Given the description of an element on the screen output the (x, y) to click on. 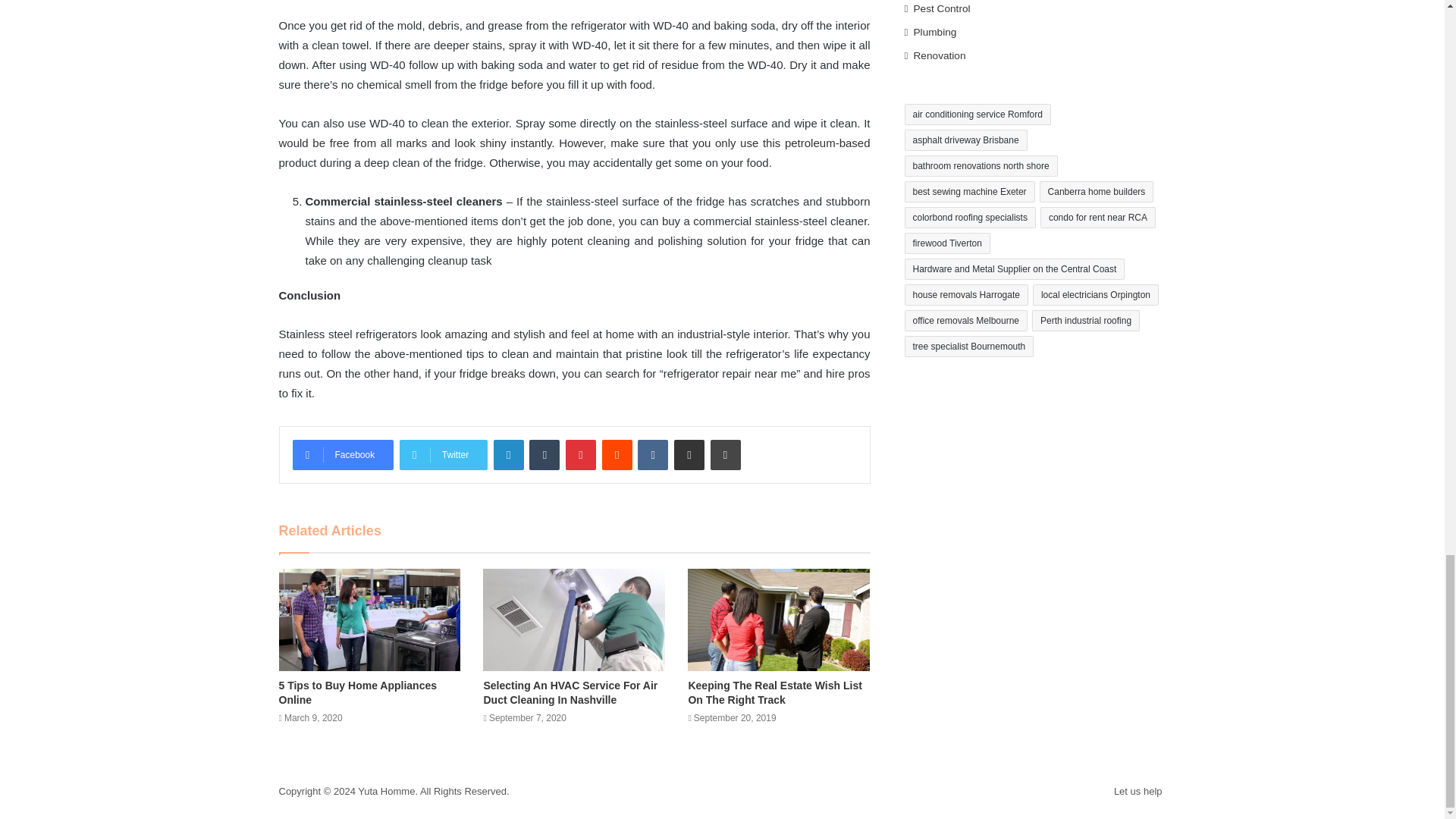
Keeping The Real Estate Wish List On The Right Track (774, 692)
Tumblr (544, 454)
Reddit (616, 454)
Twitter (442, 454)
Twitter (442, 454)
VKontakte (652, 454)
Facebook (343, 454)
Pinterest (580, 454)
LinkedIn (508, 454)
5 Tips to Buy Home Appliances Online (358, 692)
LinkedIn (508, 454)
Share via Email (689, 454)
Facebook (343, 454)
Reddit (616, 454)
VKontakte (652, 454)
